Given the description of an element on the screen output the (x, y) to click on. 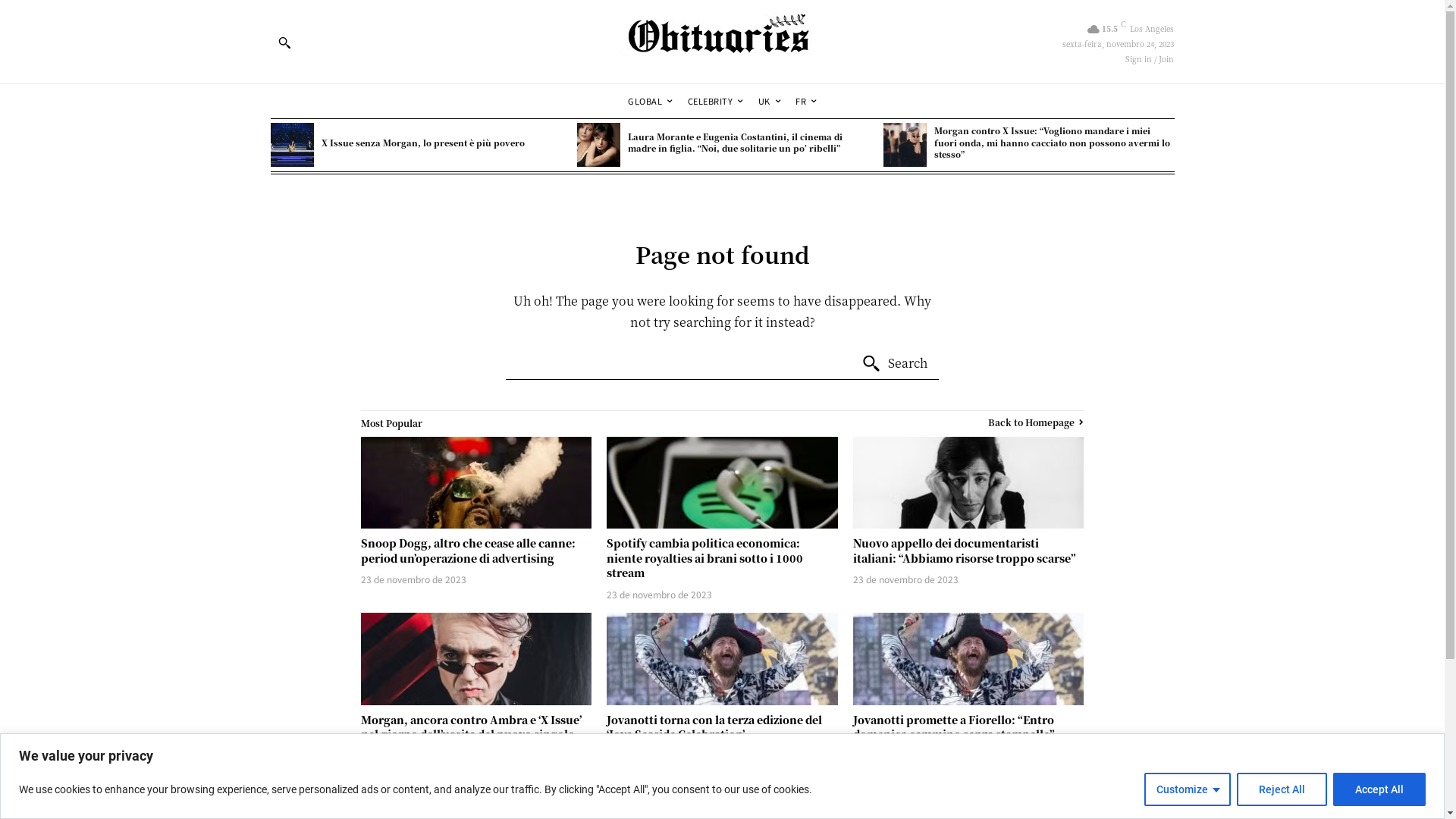
FR Element type: text (805, 100)
GLOBAL Element type: text (650, 100)
Search Element type: text (894, 363)
Back to Homepage Element type: text (1035, 421)
Sign in / Join Element type: text (1149, 58)
UK Element type: text (769, 100)
CELEBRITY Element type: text (715, 100)
